Given the description of an element on the screen output the (x, y) to click on. 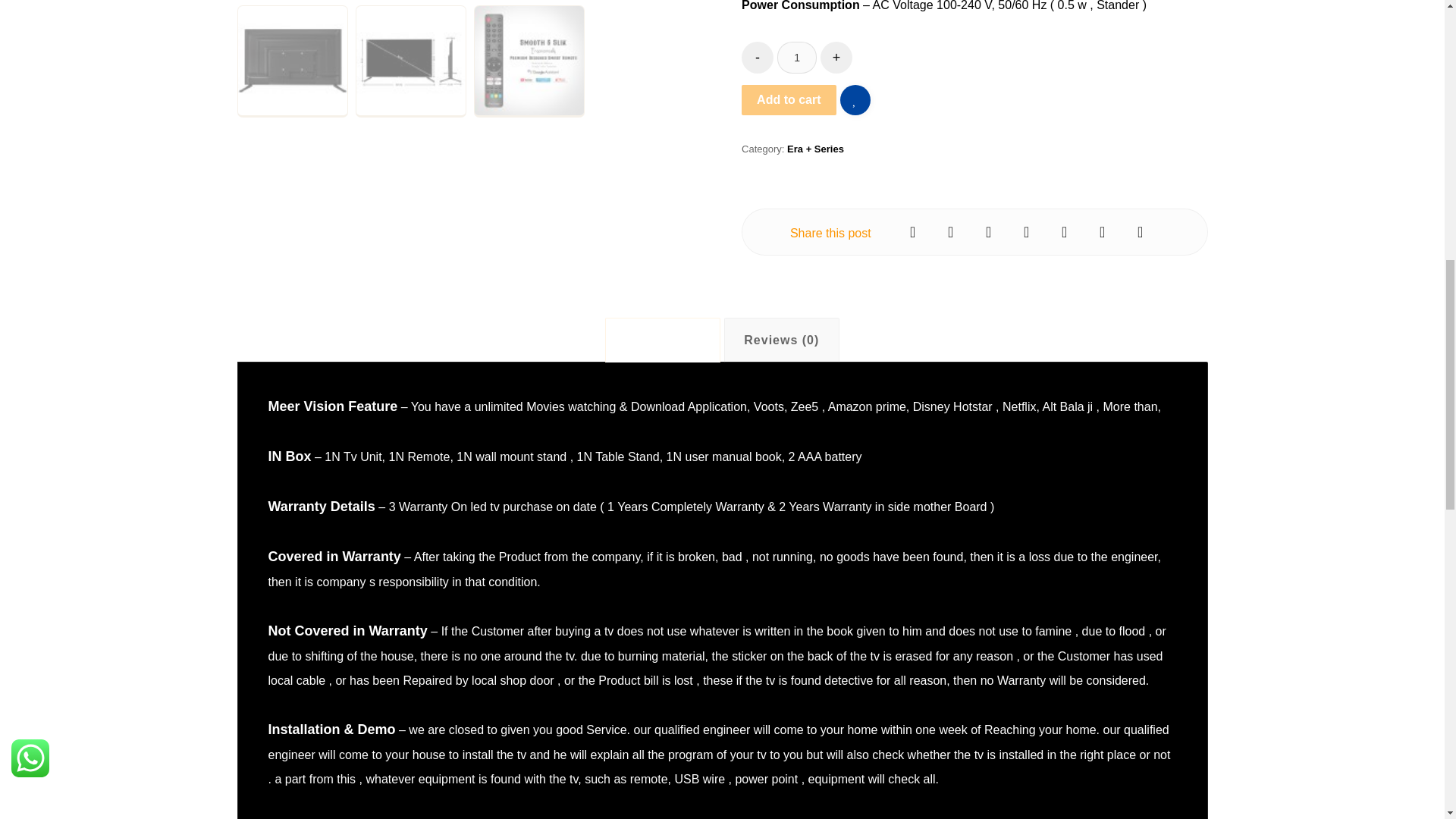
1 (796, 57)
Add to cart (788, 100)
Qty (796, 57)
